Given the description of an element on the screen output the (x, y) to click on. 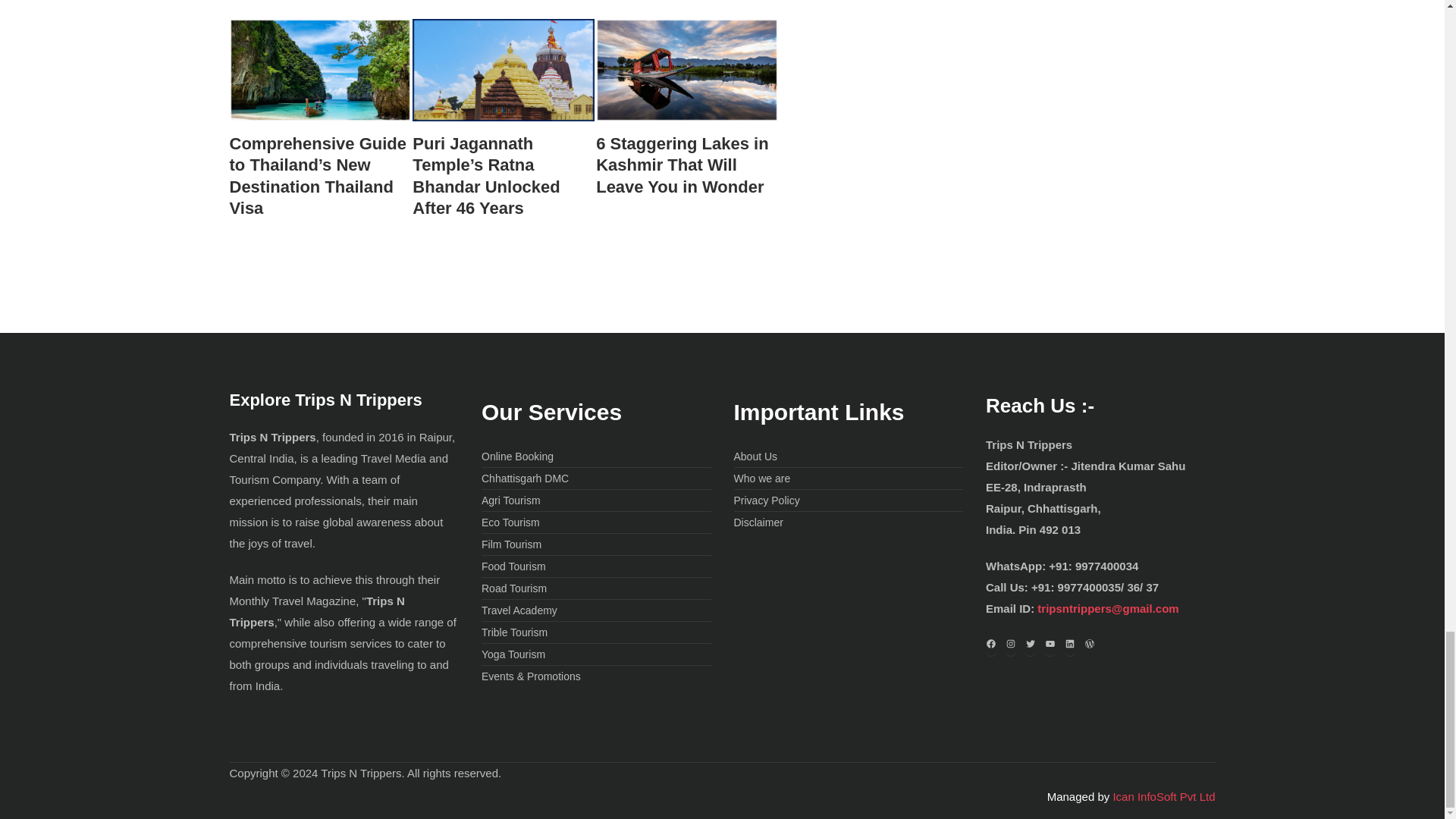
6 Staggering Lakes in Kashmir That Will Leave You in Wonder (686, 166)
